Given the description of an element on the screen output the (x, y) to click on. 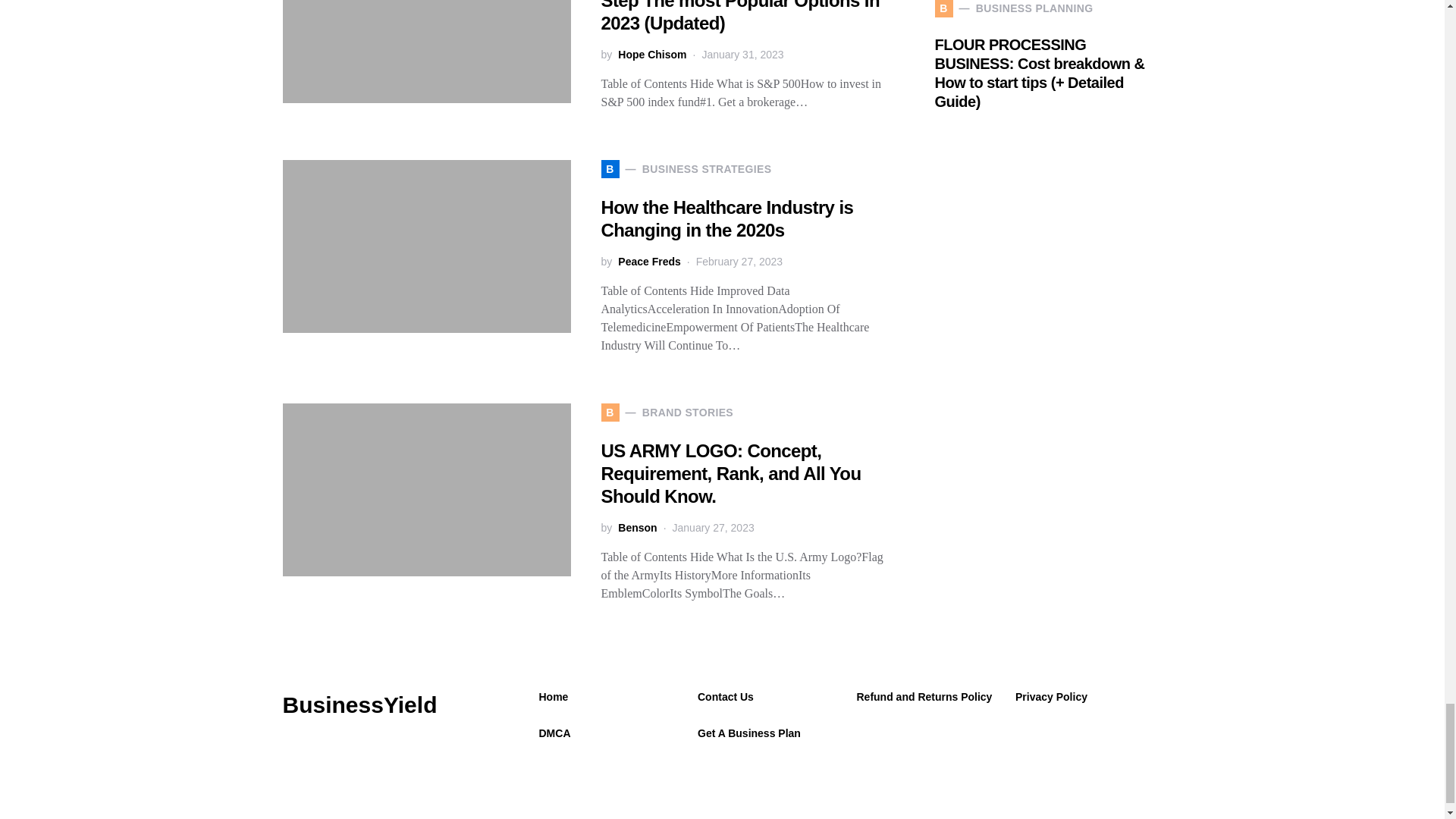
View all posts by Benson (636, 528)
View all posts by Peace Freds (649, 261)
View all posts by Hope Chisom (651, 54)
